Given the description of an element on the screen output the (x, y) to click on. 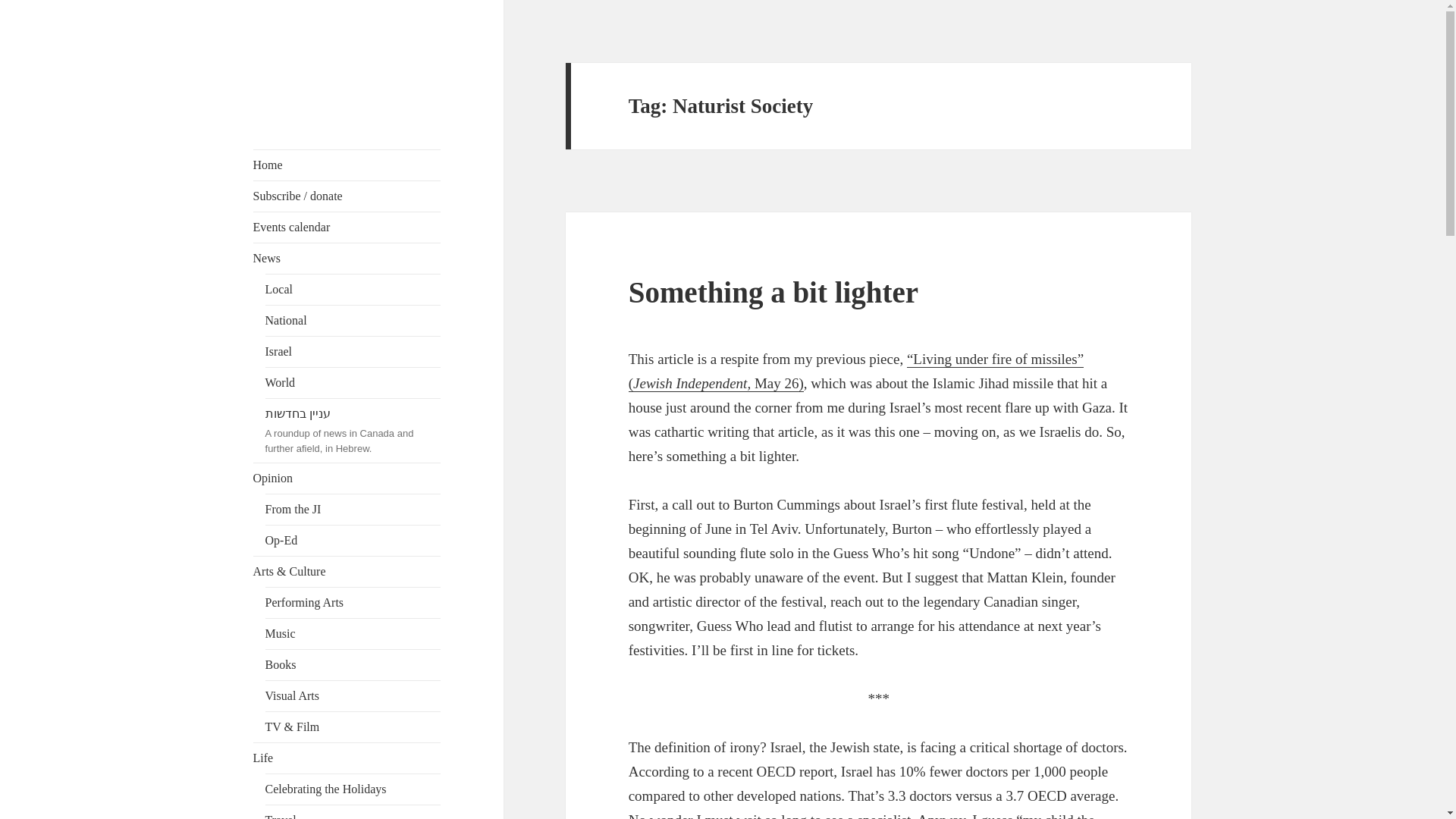
Events calendar (347, 227)
Home (347, 164)
Music (352, 634)
Life (347, 757)
Visual Arts (352, 695)
National (352, 320)
Travel (352, 812)
Books (352, 665)
Op-Ed (352, 540)
Celebrating the Holidays (352, 788)
